Given the description of an element on the screen output the (x, y) to click on. 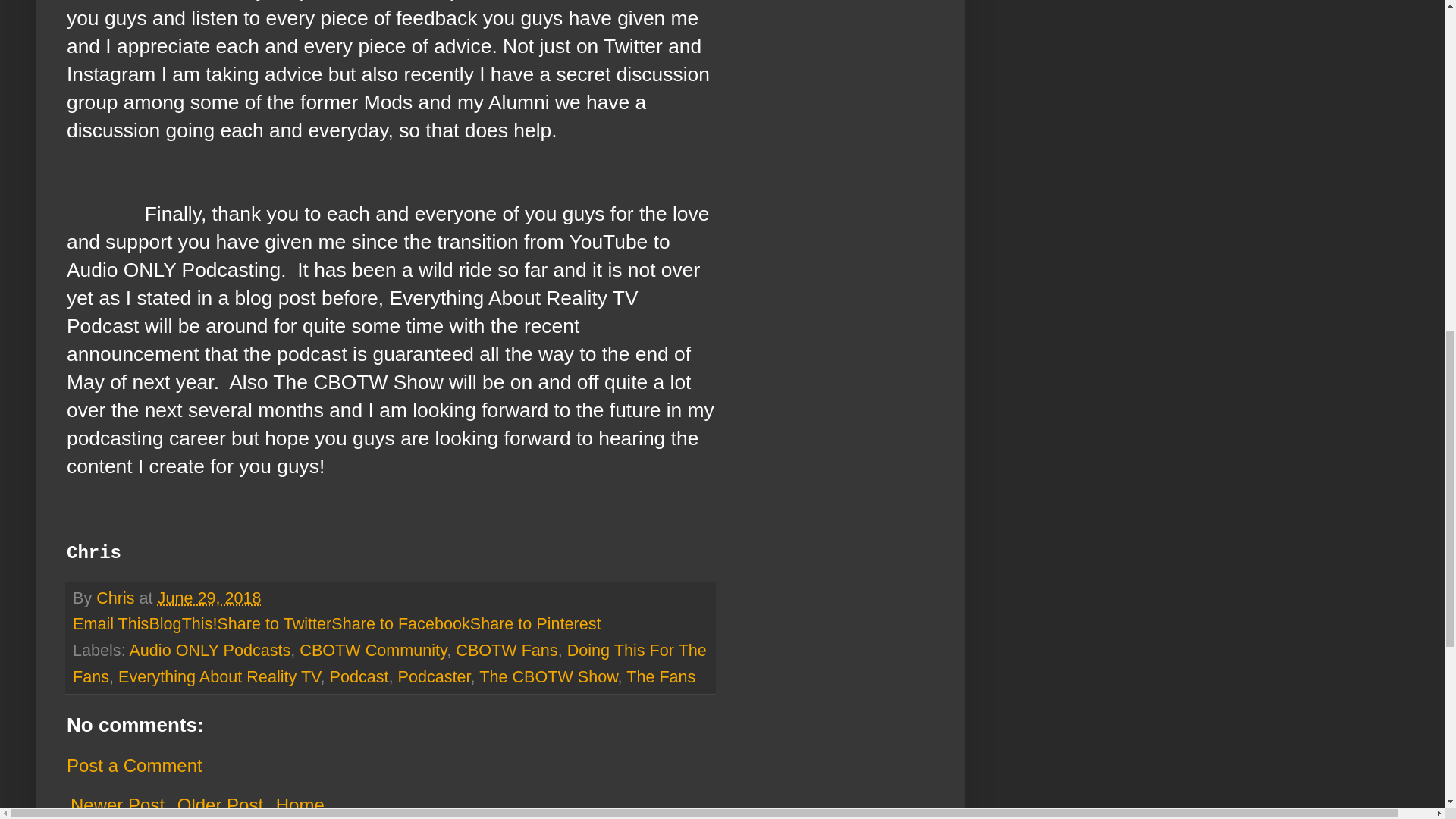
Share to Twitter (273, 623)
author profile (117, 597)
The CBOTW Show (548, 676)
Podcast (358, 676)
Podcaster (433, 676)
June 29, 2018 (209, 597)
Older Post (219, 805)
Email This (110, 623)
Share to Facebook (399, 623)
The Fans (660, 676)
permanent link (209, 597)
BlogThis! (182, 623)
CBOTW Community (372, 650)
Share to Pinterest (535, 623)
Share to Pinterest (535, 623)
